Given the description of an element on the screen output the (x, y) to click on. 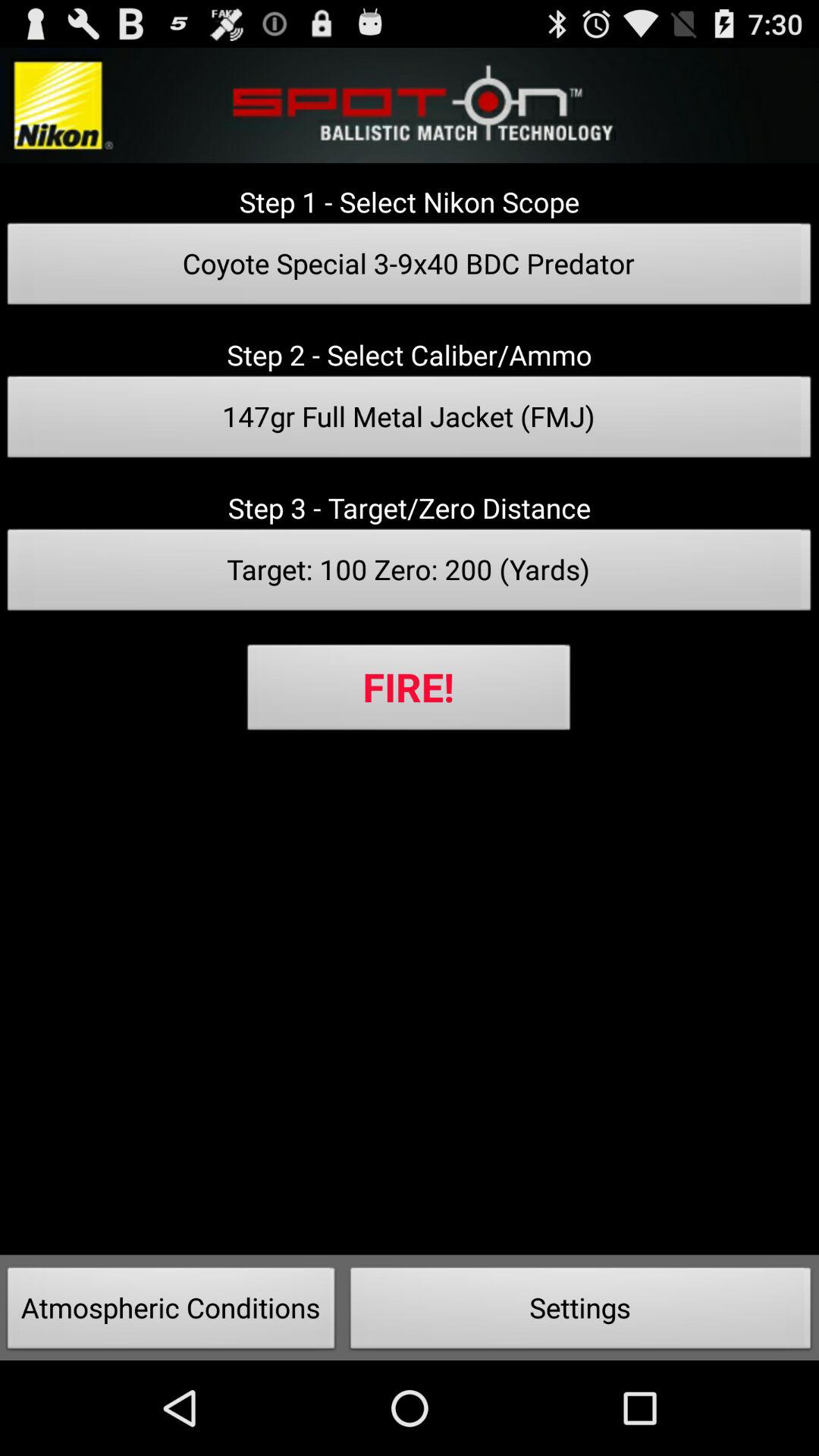
select button next to atmospheric conditions (580, 1312)
